Given the description of an element on the screen output the (x, y) to click on. 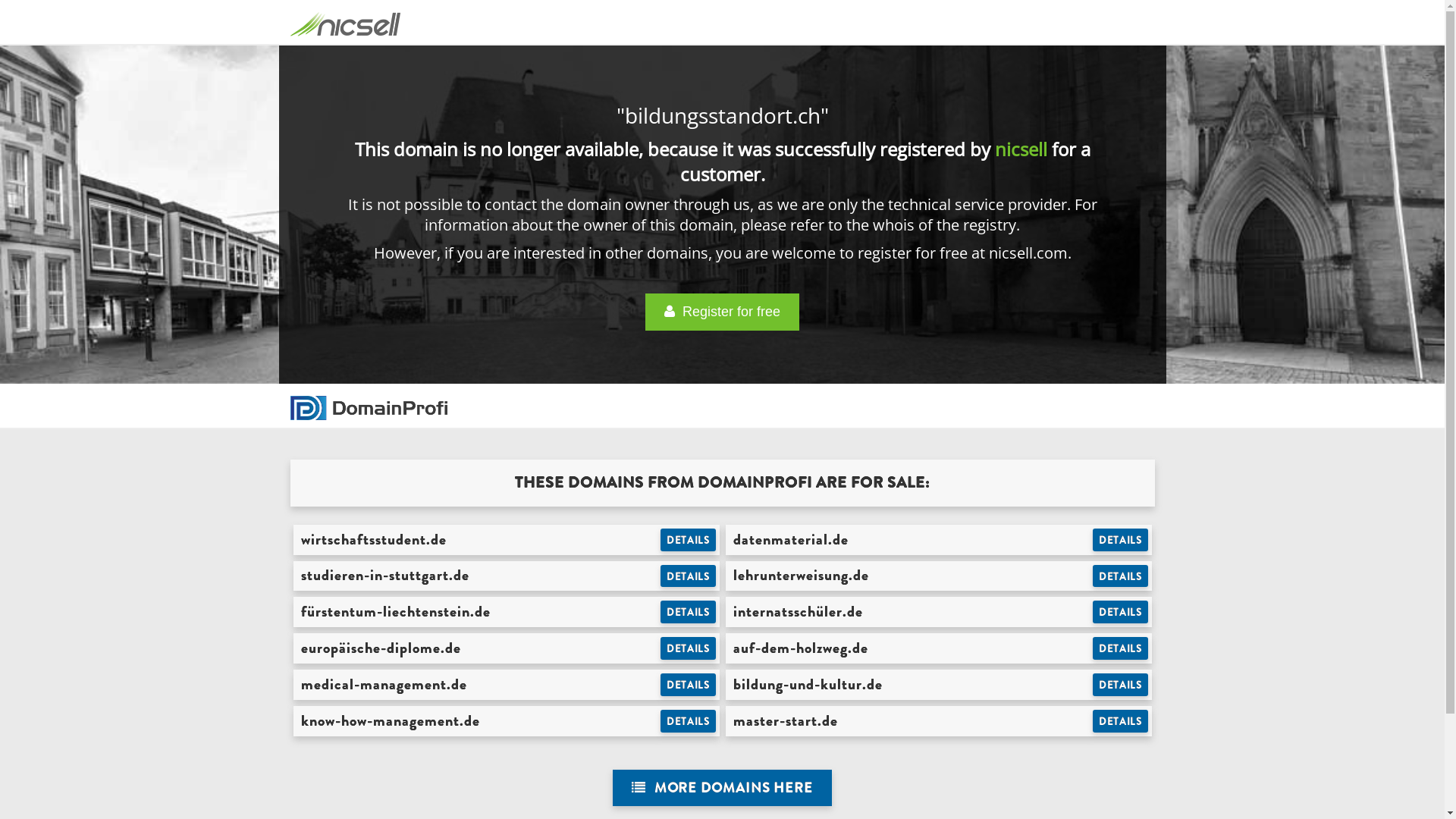
DETAILS Element type: text (1120, 684)
DETAILS Element type: text (1120, 720)
  MORE DOMAINS HERE Element type: text (721, 787)
DETAILS Element type: text (1120, 648)
DETAILS Element type: text (1120, 611)
nicsell Element type: text (1020, 148)
DETAILS Element type: text (1120, 539)
DETAILS Element type: text (1120, 575)
DETAILS Element type: text (687, 575)
DETAILS Element type: text (687, 684)
DETAILS Element type: text (687, 720)
DETAILS Element type: text (687, 648)
  Register for free Element type: text (722, 311)
DETAILS Element type: text (687, 611)
DETAILS Element type: text (687, 539)
